Given the description of an element on the screen output the (x, y) to click on. 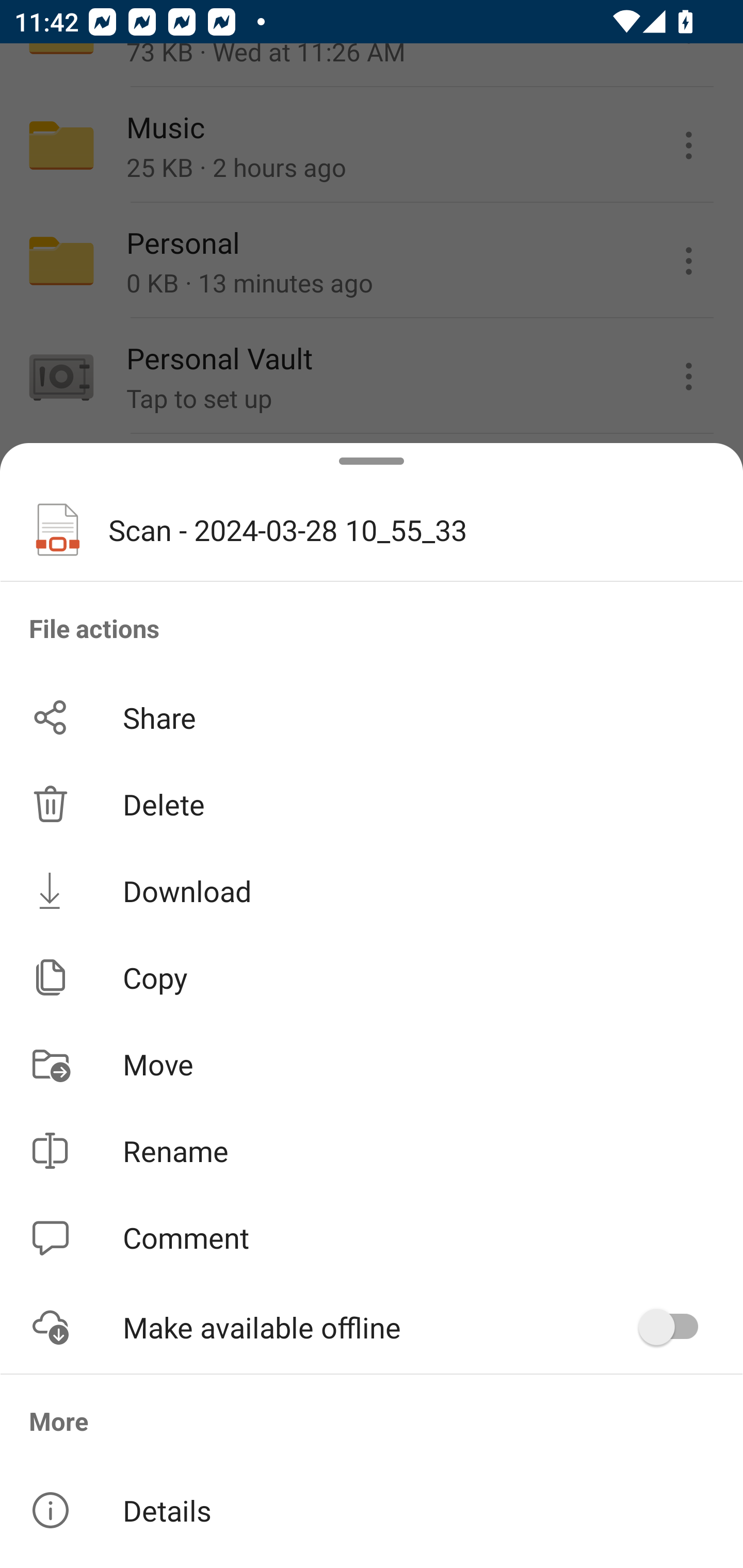
Share button Share (371, 717)
Delete button Delete (371, 803)
Download button Download (371, 890)
Copy button Copy (371, 977)
Move button Move (371, 1063)
Rename button Rename (371, 1150)
Comment button Comment (371, 1237)
Make offline operation (674, 1327)
Details button Details (371, 1510)
